Given the description of an element on the screen output the (x, y) to click on. 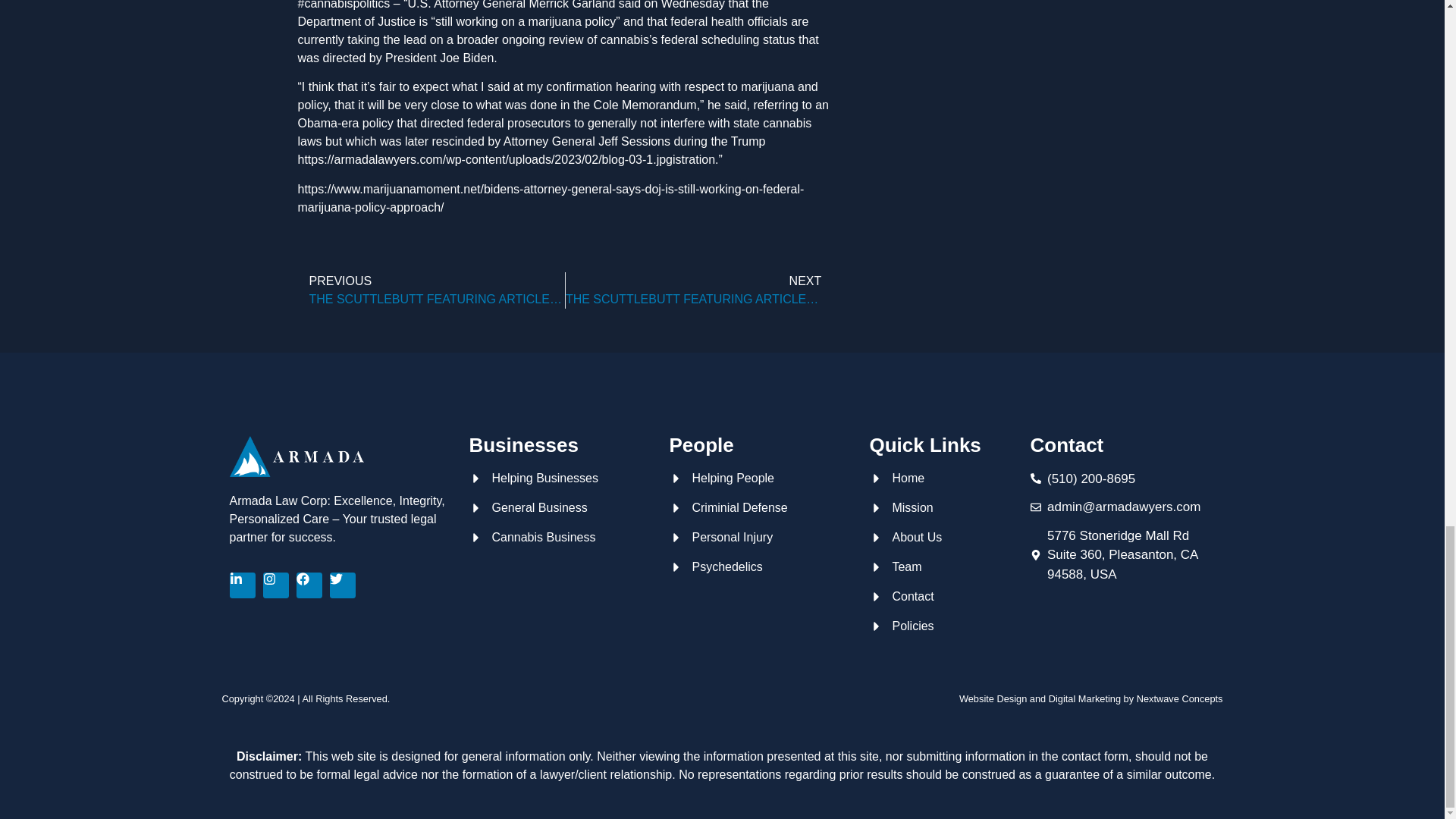
later rescinded by Attorney General Jeff Sessions (536, 141)
